Given the description of an element on the screen output the (x, y) to click on. 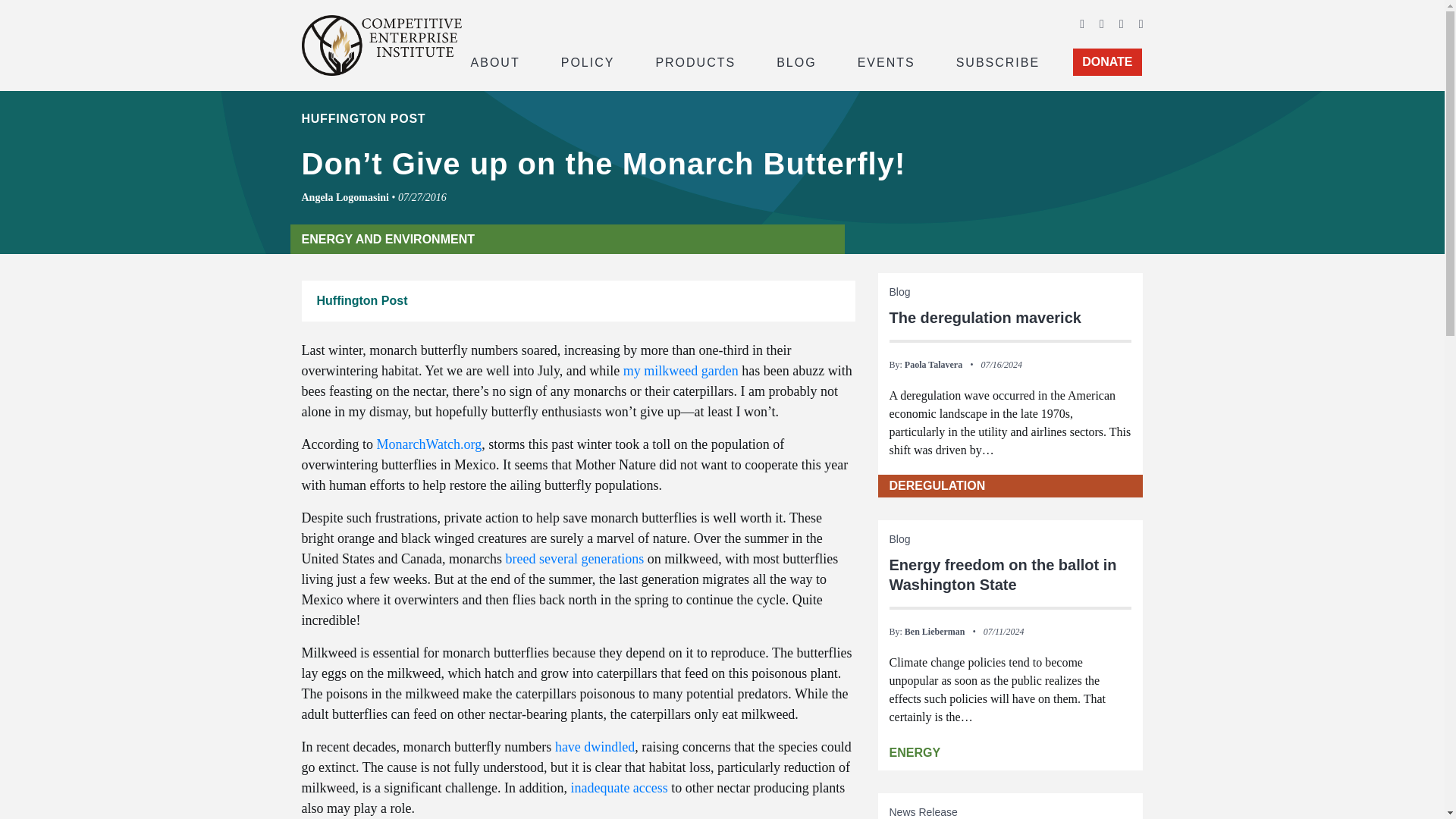
POLICY (588, 61)
PRODUCTS (694, 61)
SUBSCRIBE (997, 61)
EVENTS (886, 61)
BLOG (796, 61)
ABOUT (495, 61)
DONATE (1107, 62)
